Given the description of an element on the screen output the (x, y) to click on. 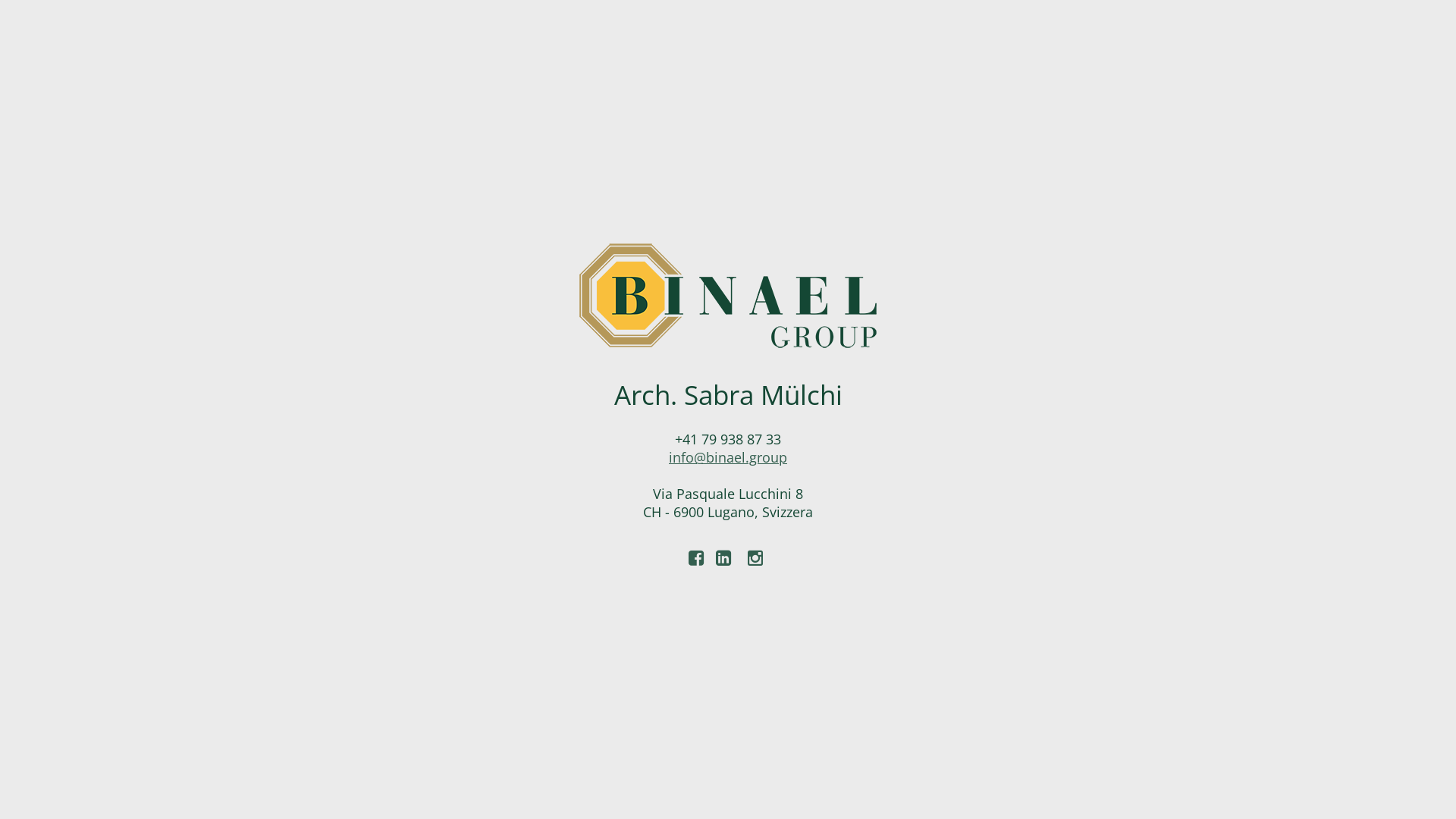
info@binael.group Element type: text (727, 457)
Facebook Element type: hover (696, 556)
Linkedin Element type: hover (726, 556)
  Element type: text (726, 556)
Instagram Element type: hover (757, 556)
  Element type: text (757, 556)
